Given the description of an element on the screen output the (x, y) to click on. 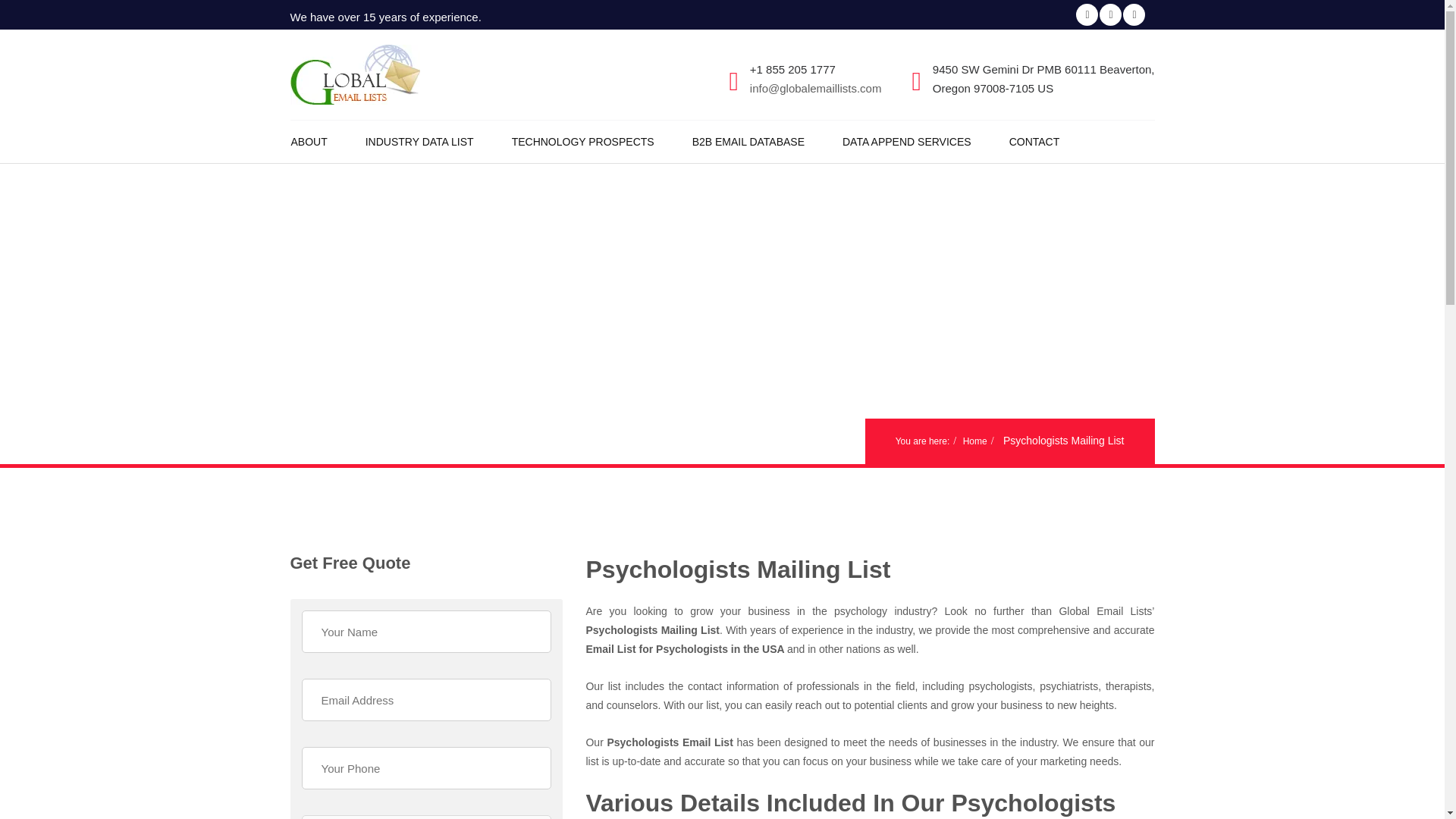
INDUSTRY DATA LIST (438, 141)
ABOUT (328, 141)
Home (974, 440)
